Given the description of an element on the screen output the (x, y) to click on. 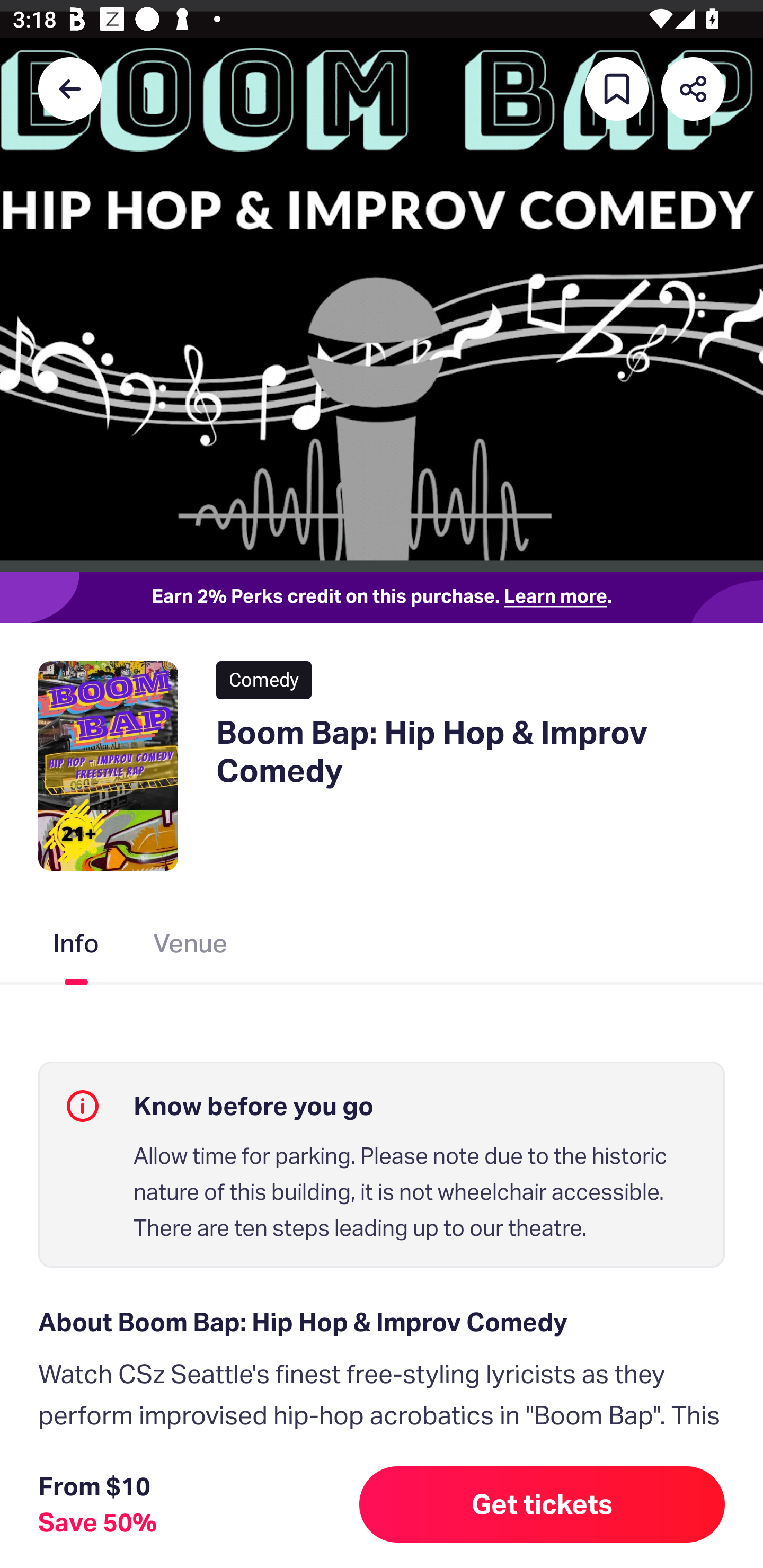
Earn 2% Perks credit on this purchase. Learn more. (381, 597)
Venue (190, 946)
About Boom Bap: Hip Hop & Improv Comedy (381, 1322)
Get tickets (541, 1504)
